Given the description of an element on the screen output the (x, y) to click on. 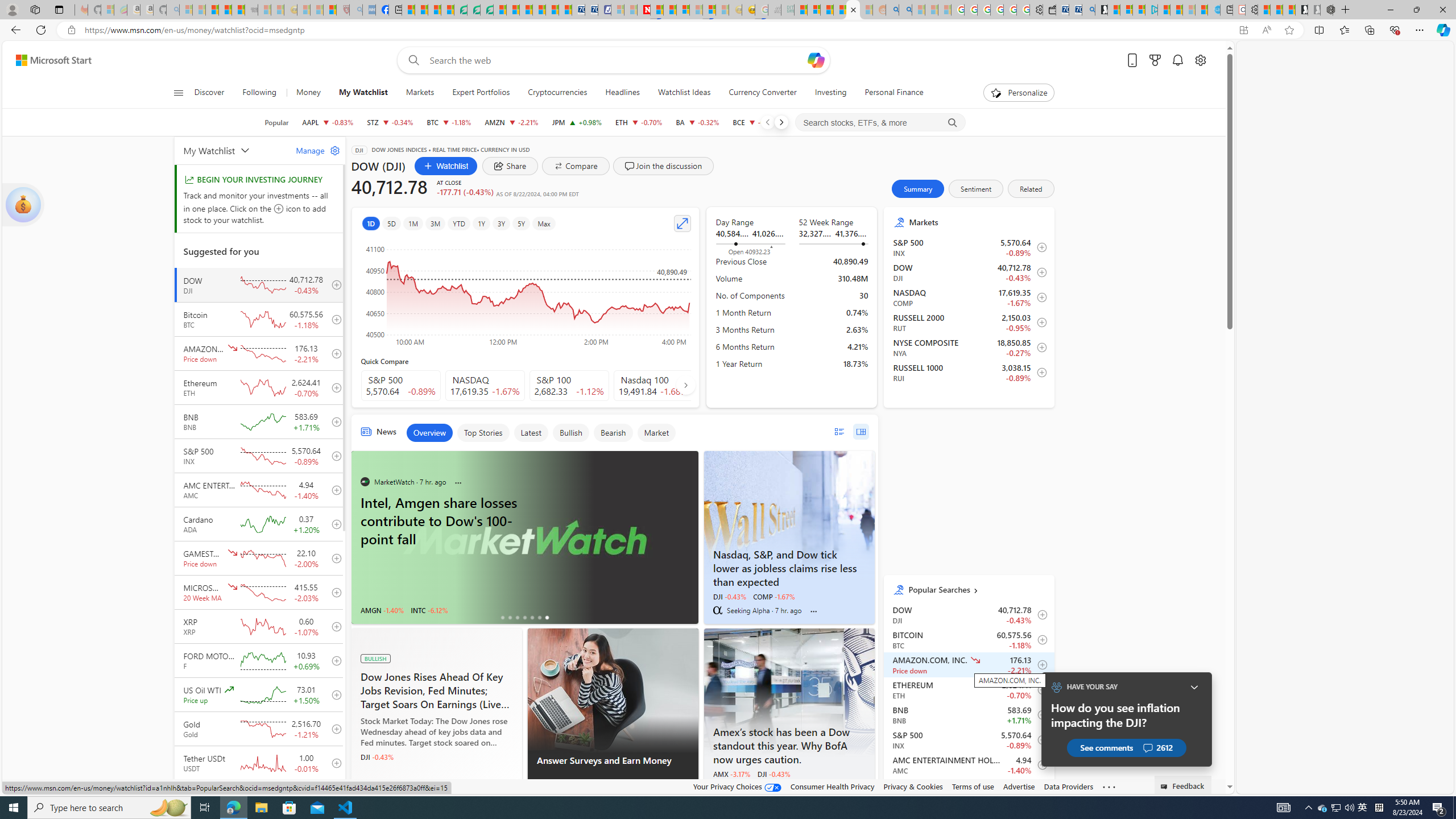
Search stocks, ETFs, & more (880, 122)
add to your watchlist (333, 797)
